Given the description of an element on the screen output the (x, y) to click on. 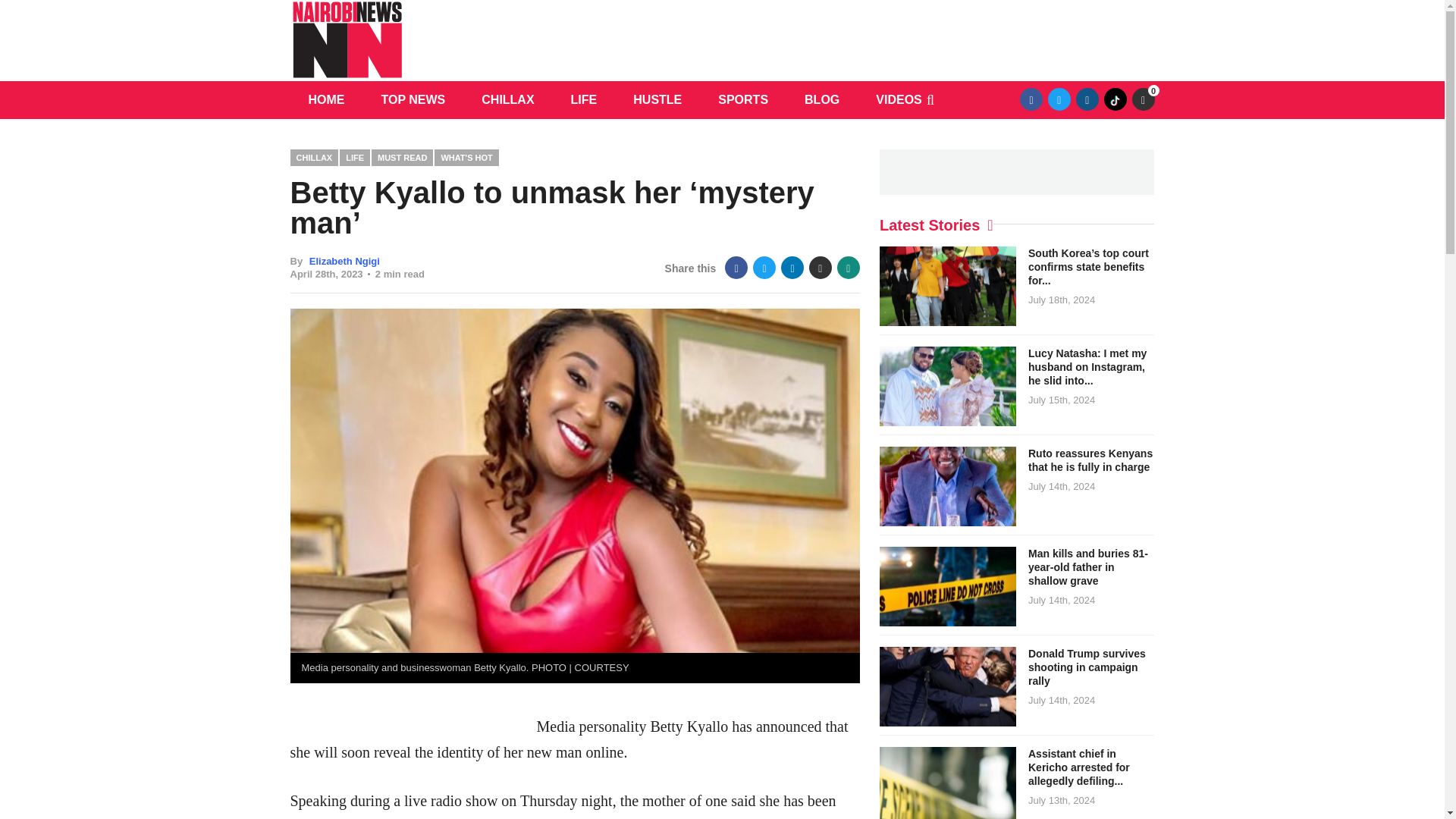
BLOG (821, 99)
VIDEOS (898, 99)
SPORTS (743, 99)
Facebook (1031, 98)
LIFE (355, 157)
HUSTLE (657, 99)
TikTok (1114, 98)
Elizabeth Ngigi (344, 260)
0 (1142, 98)
Twitter (764, 267)
CHILLAX (313, 157)
Instagram (1087, 98)
CHILLAX (507, 99)
WhatsApp (848, 267)
LIFE (584, 99)
